Given the description of an element on the screen output the (x, y) to click on. 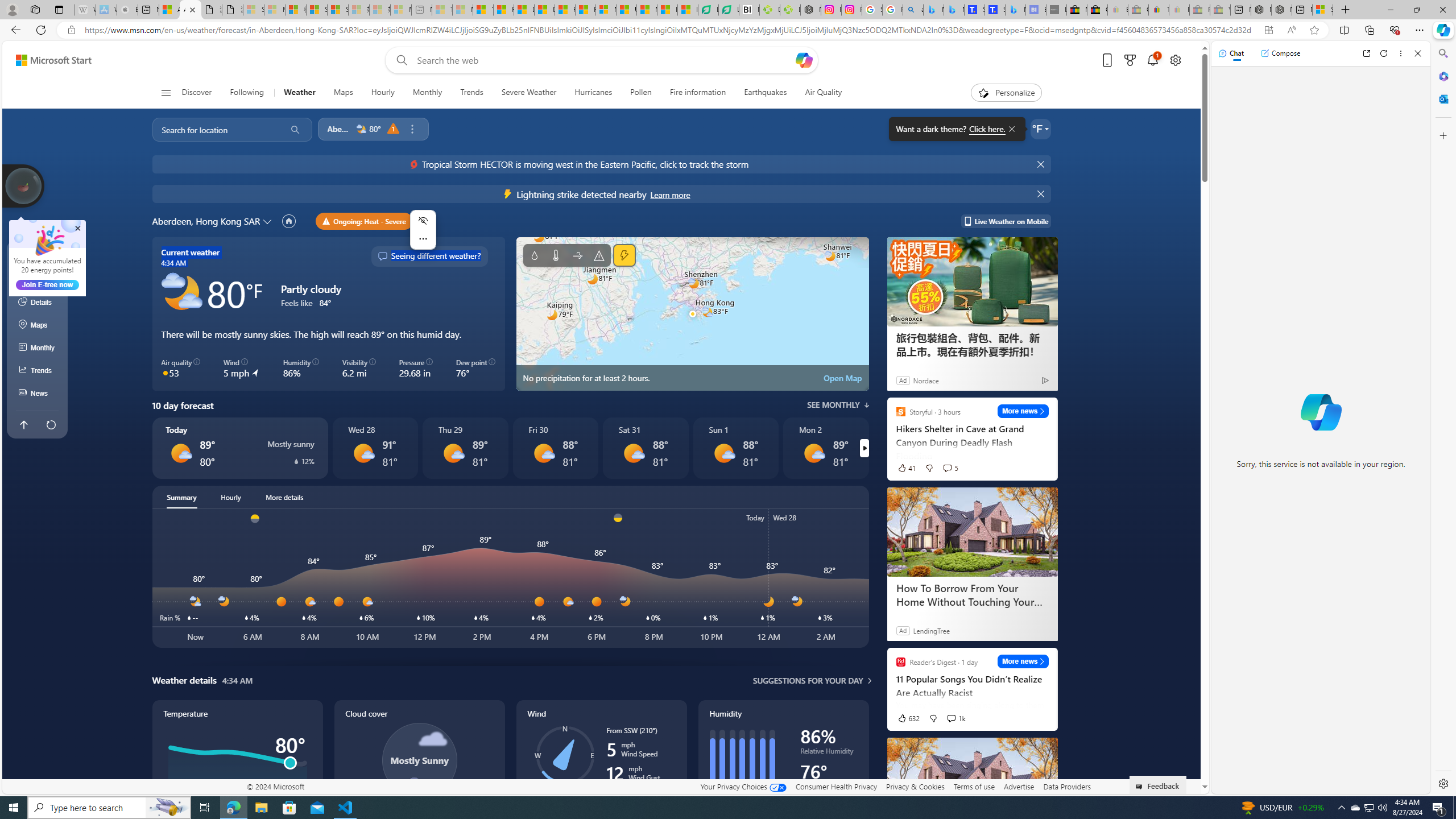
static map image of vector map (692, 313)
Set as primary location (289, 220)
Pollen (641, 92)
Shangri-La Bangkok, Hotel reviews and Room rates (994, 9)
Remove location (411, 128)
